Given the description of an element on the screen output the (x, y) to click on. 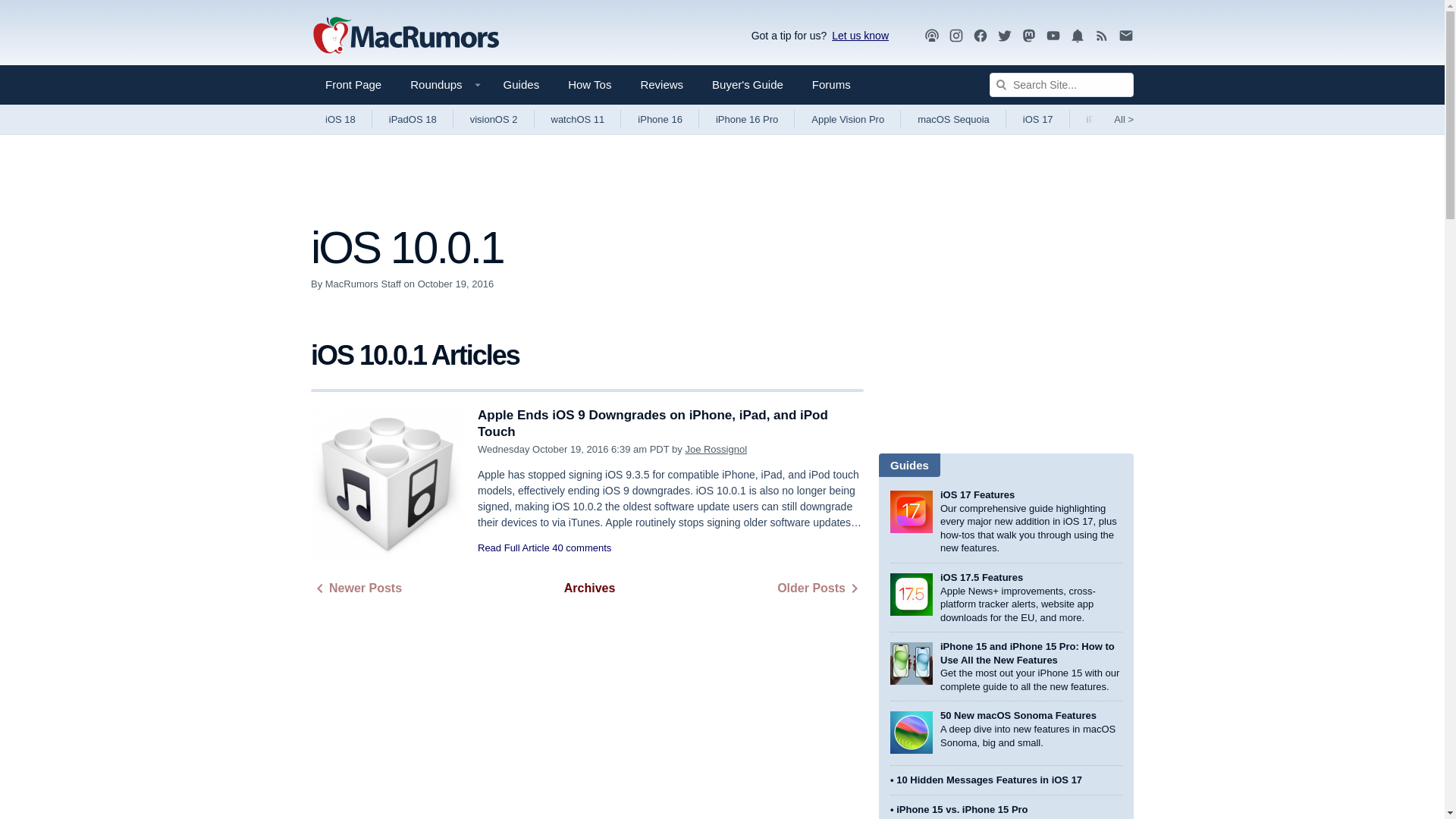
Guides (521, 84)
Instagram (956, 35)
MacRumors Push Notifications (1077, 35)
Notifications (1077, 35)
Newsletter (1126, 35)
MacRumors RSS Feed (1101, 35)
Front Page (353, 84)
Roundups (441, 84)
Let us know (857, 35)
Apple, Mac, iPhone, iPad News and Rumors (405, 36)
Front (353, 84)
Facebook (980, 35)
MacRumors YouTube Channel (1053, 35)
Roundups (441, 84)
Newsletter (1126, 35)
